Given the description of an element on the screen output the (x, y) to click on. 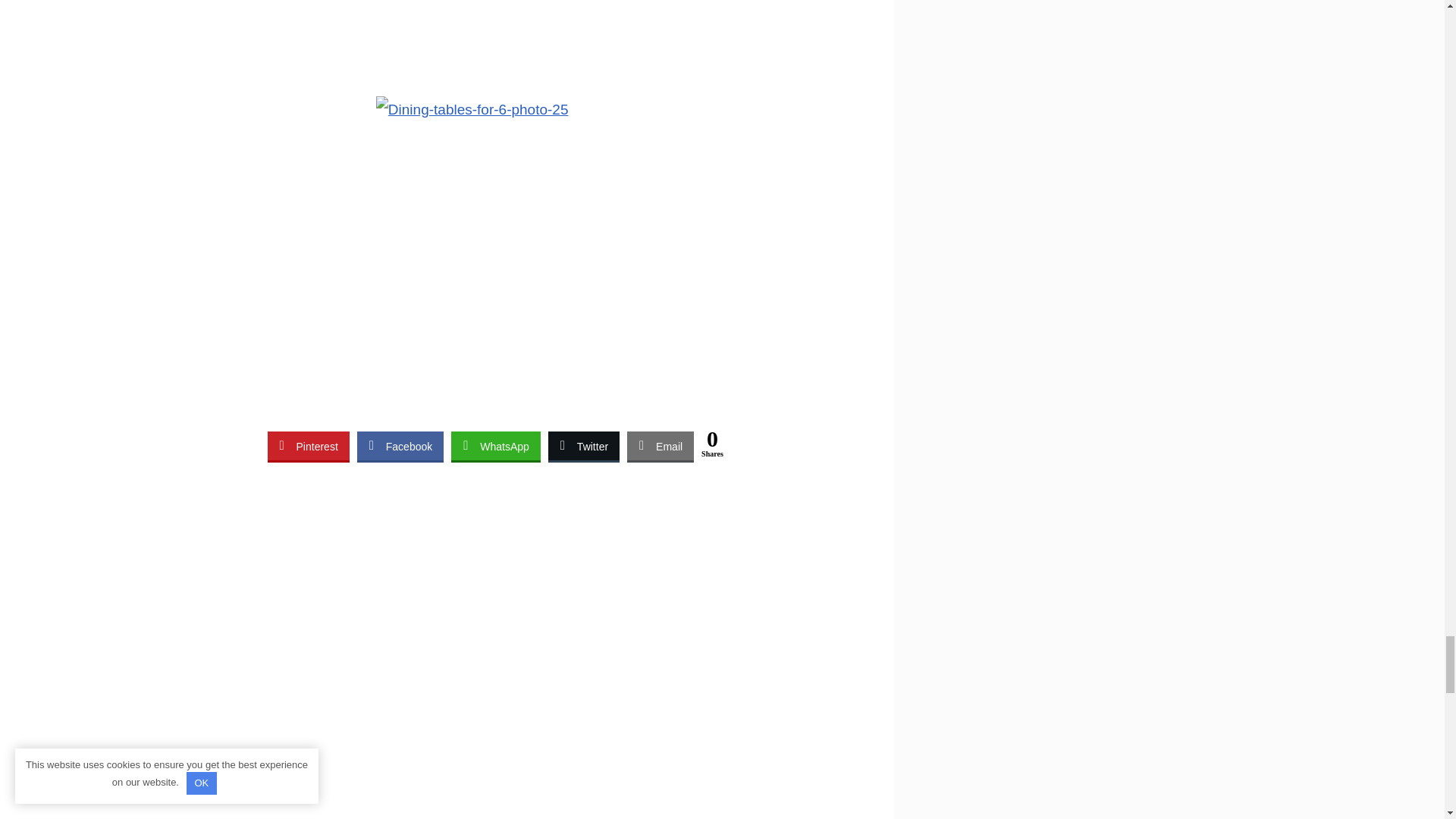
Round dining tables for 12 (408, 219)
yes (668, 750)
July 11, 2016 (387, 188)
Dining Room (316, 188)
